Given the description of an element on the screen output the (x, y) to click on. 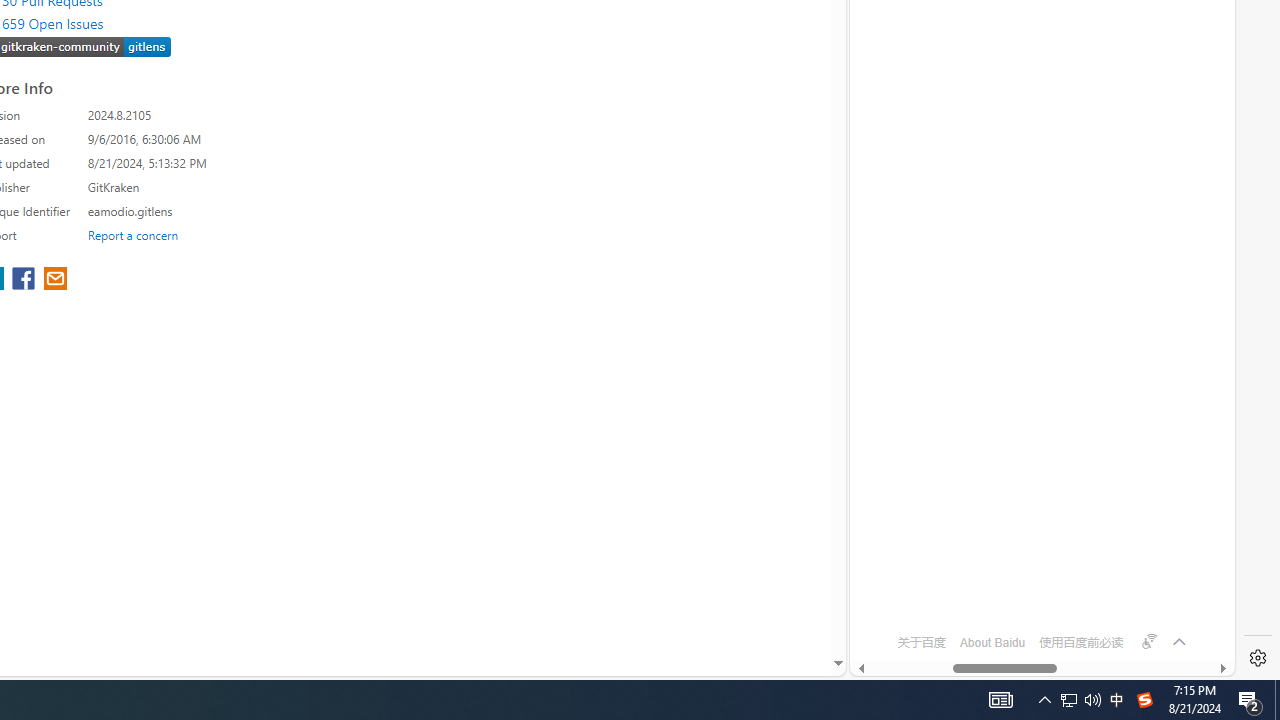
Report a concern (133, 234)
OFTV - Enjoy videos from your favorite OF creators! (1034, 604)
About Baidu (992, 642)
share extension on email (54, 280)
OFTV (1034, 587)
share extension on facebook (26, 280)
